Given the description of an element on the screen output the (x, y) to click on. 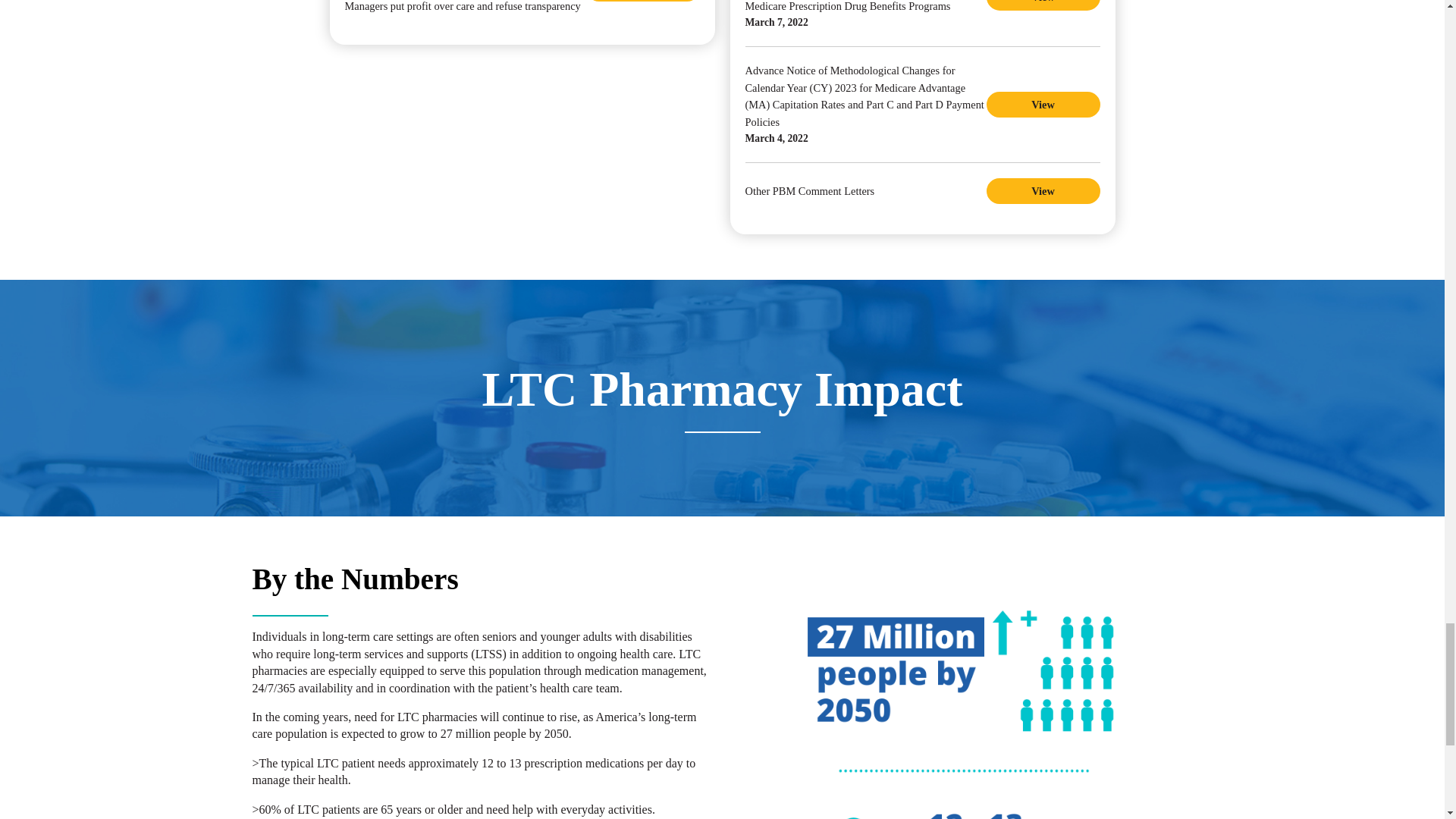
View (1042, 190)
View (1042, 104)
View (641, 0)
View (1042, 4)
